Given the description of an element on the screen output the (x, y) to click on. 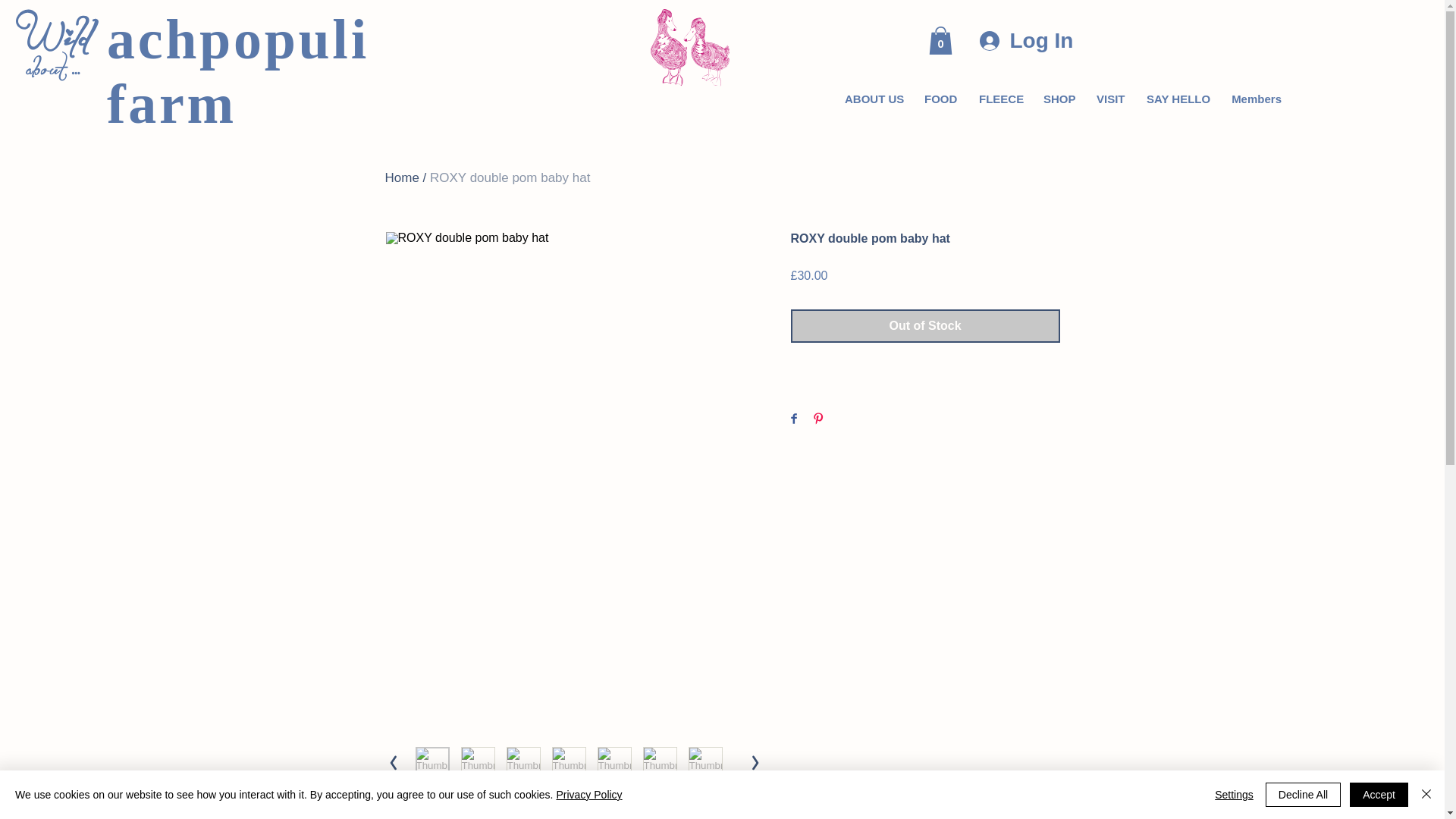
Out of Stock (924, 326)
Log In (1014, 40)
SAY HELLO (1176, 98)
SHOP (1058, 98)
Home (402, 177)
FOOD (940, 98)
ABOUT US (872, 98)
achpopuli farm (237, 71)
Members (1255, 98)
VISIT (1109, 98)
